Given the description of an element on the screen output the (x, y) to click on. 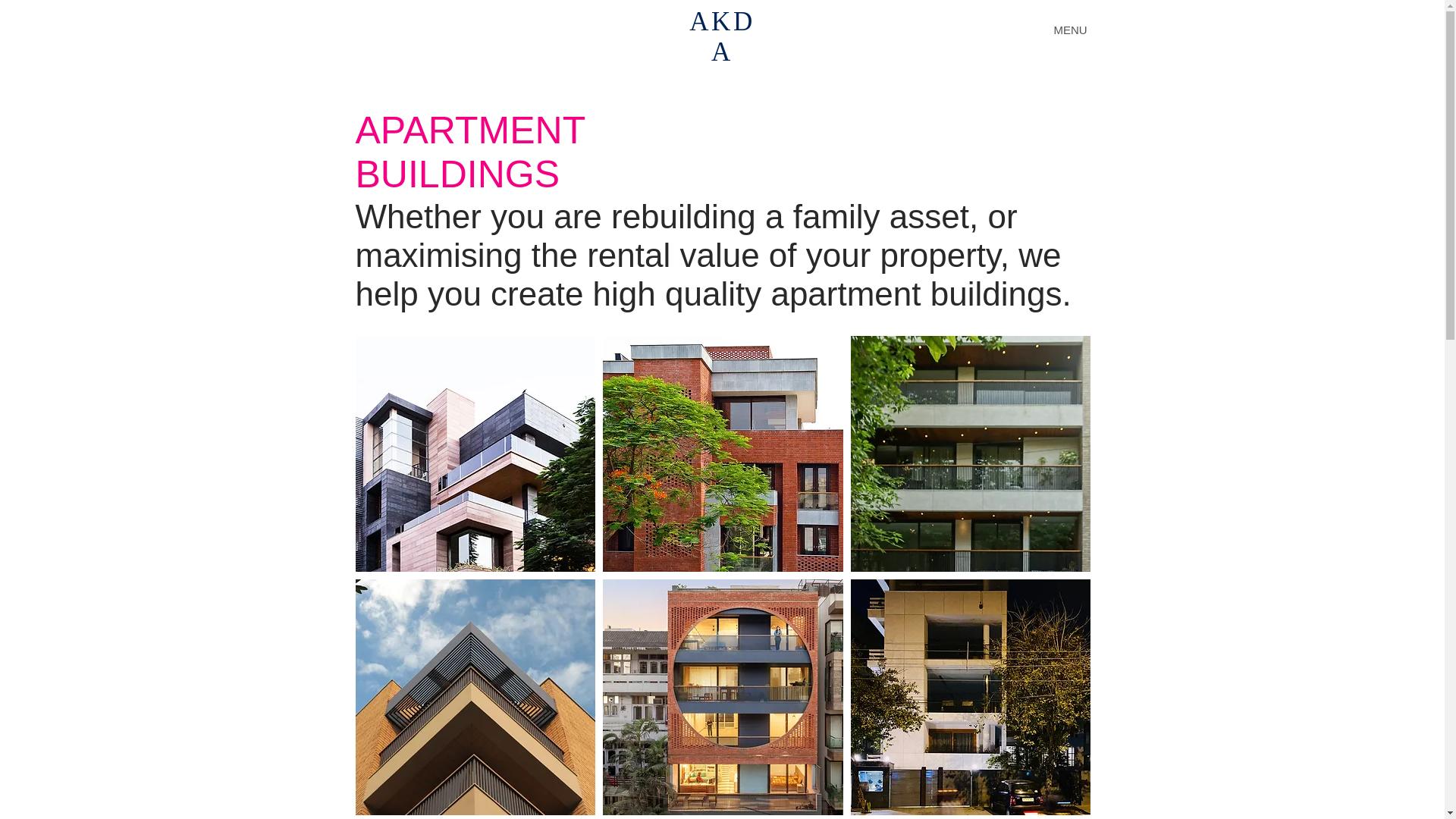
AKDA (721, 36)
MENU (1069, 30)
